Given the description of an element on the screen output the (x, y) to click on. 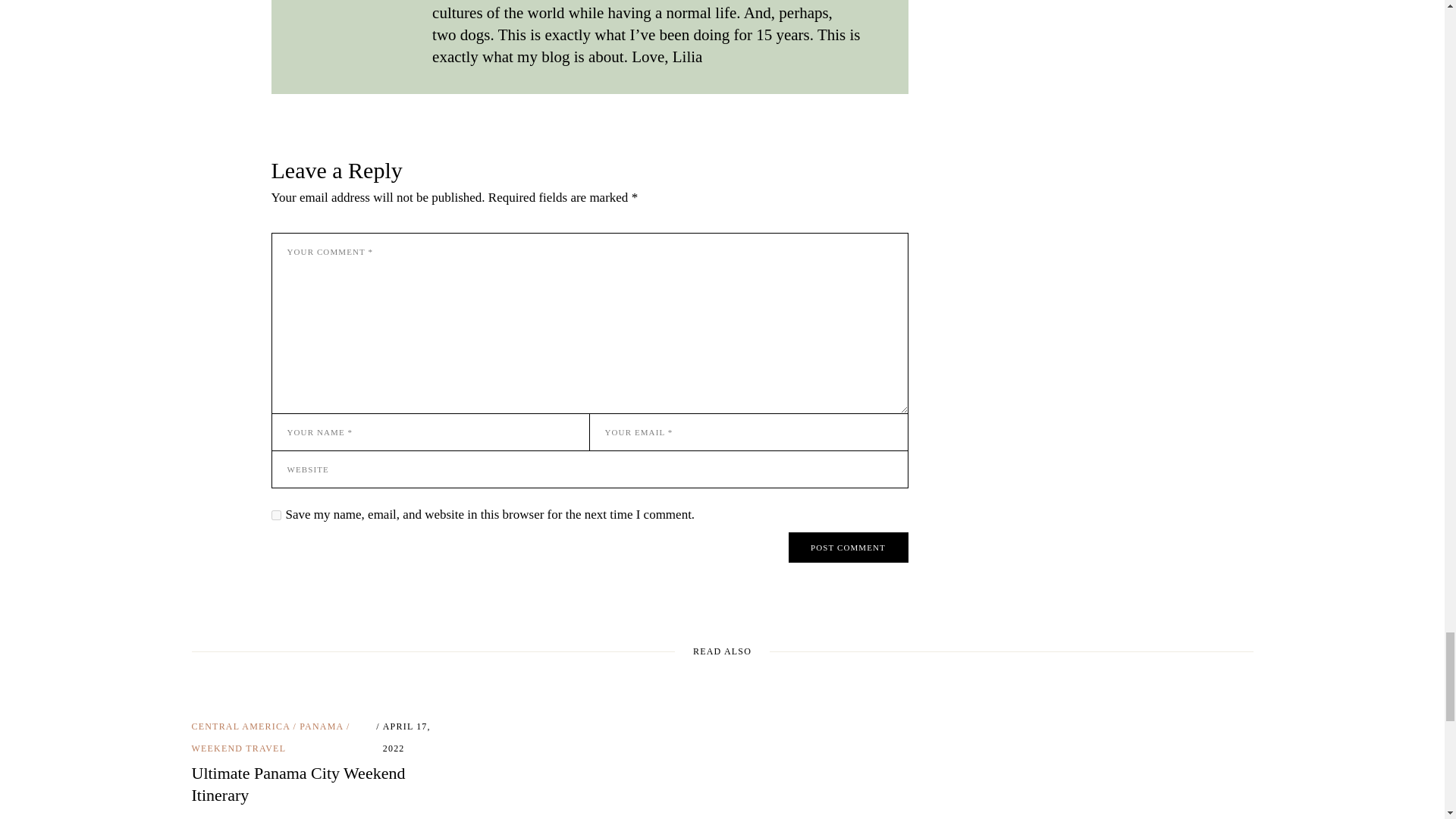
yes (275, 515)
